Given the description of an element on the screen output the (x, y) to click on. 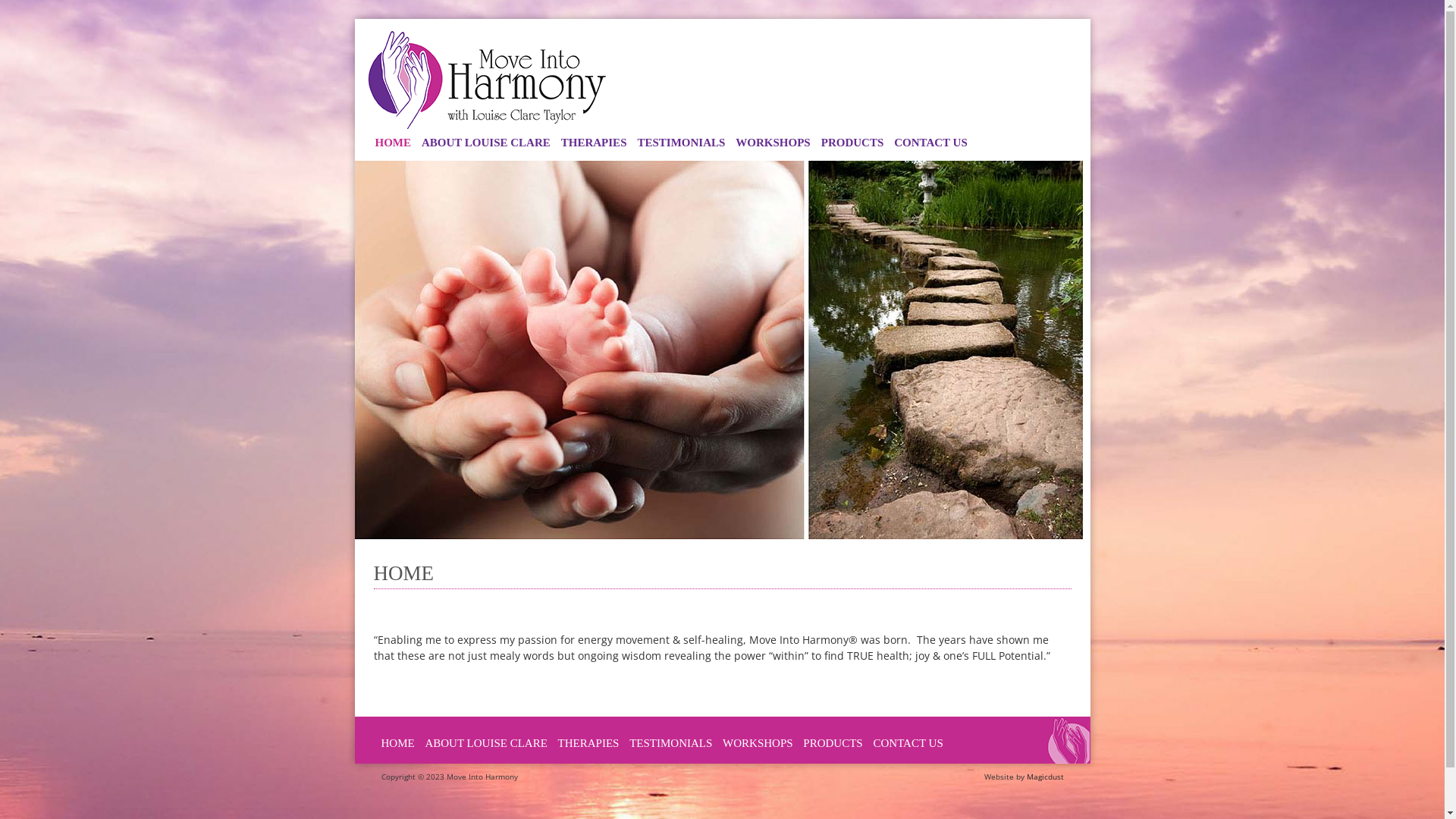
HOME Element type: text (393, 142)
ABOUT LOUISE CLARE Element type: text (485, 743)
WORKSHOPS Element type: text (772, 142)
WORKSHOPS Element type: text (757, 743)
PRODUCTS Element type: text (852, 142)
HOME Element type: text (397, 743)
MOVE INTO HARMONY Element type: text (486, 79)
Magicdust Element type: text (1044, 775)
TESTIMONIALS Element type: text (670, 743)
CONTACT US Element type: text (930, 142)
PRODUCTS Element type: text (832, 743)
THERAPIES Element type: text (593, 142)
THERAPIES Element type: text (588, 743)
CONTACT US Element type: text (907, 743)
TESTIMONIALS Element type: text (680, 142)
ABOUT LOUISE CLARE Element type: text (485, 142)
